Given the description of an element on the screen output the (x, y) to click on. 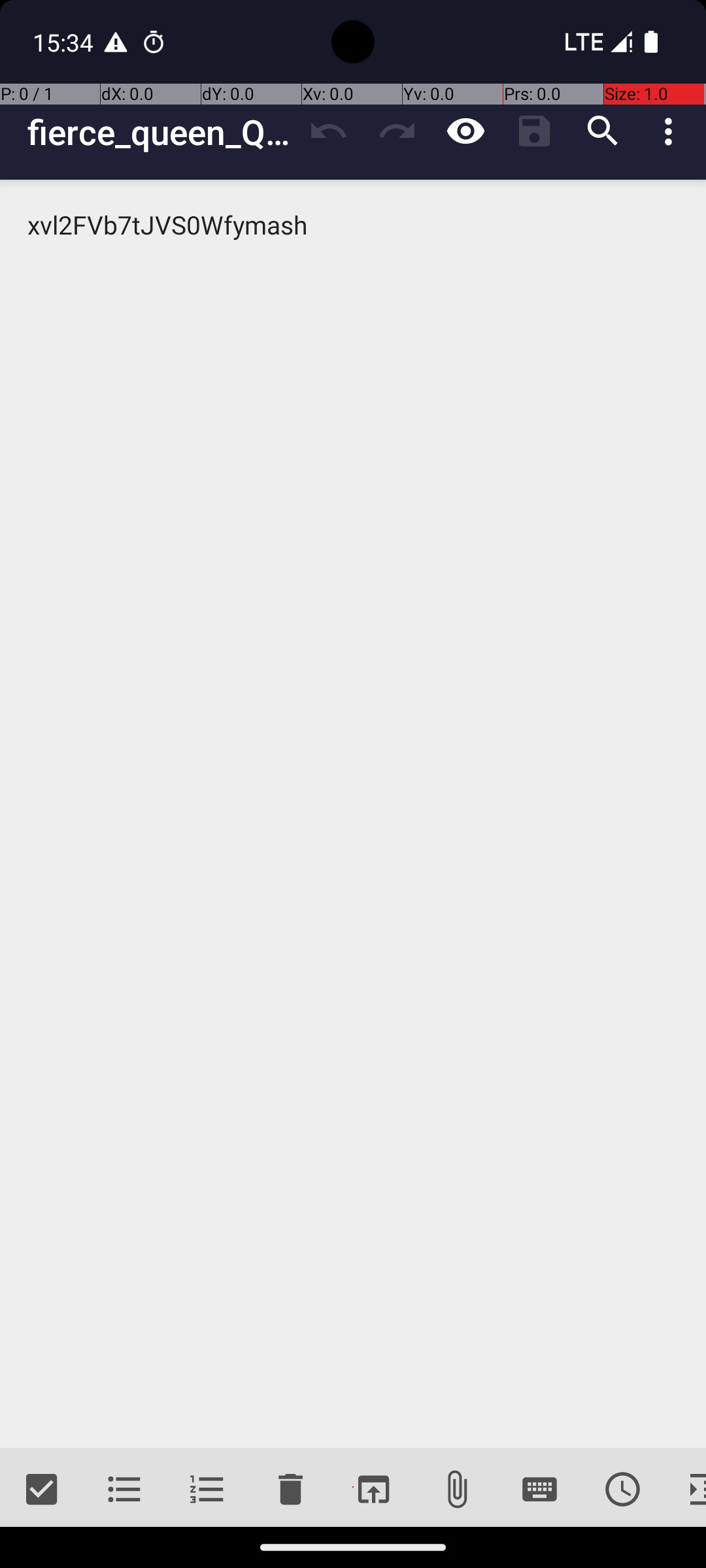
fierce_queen_QaaS Element type: android.widget.TextView (160, 131)
xvl2FVb7tJVS0Wfymash
 Element type: android.widget.EditText (353, 813)
Ordered list Element type: android.widget.ImageView (207, 1488)
Indent Element type: android.widget.ImageView (685, 1488)
